Given the description of an element on the screen output the (x, y) to click on. 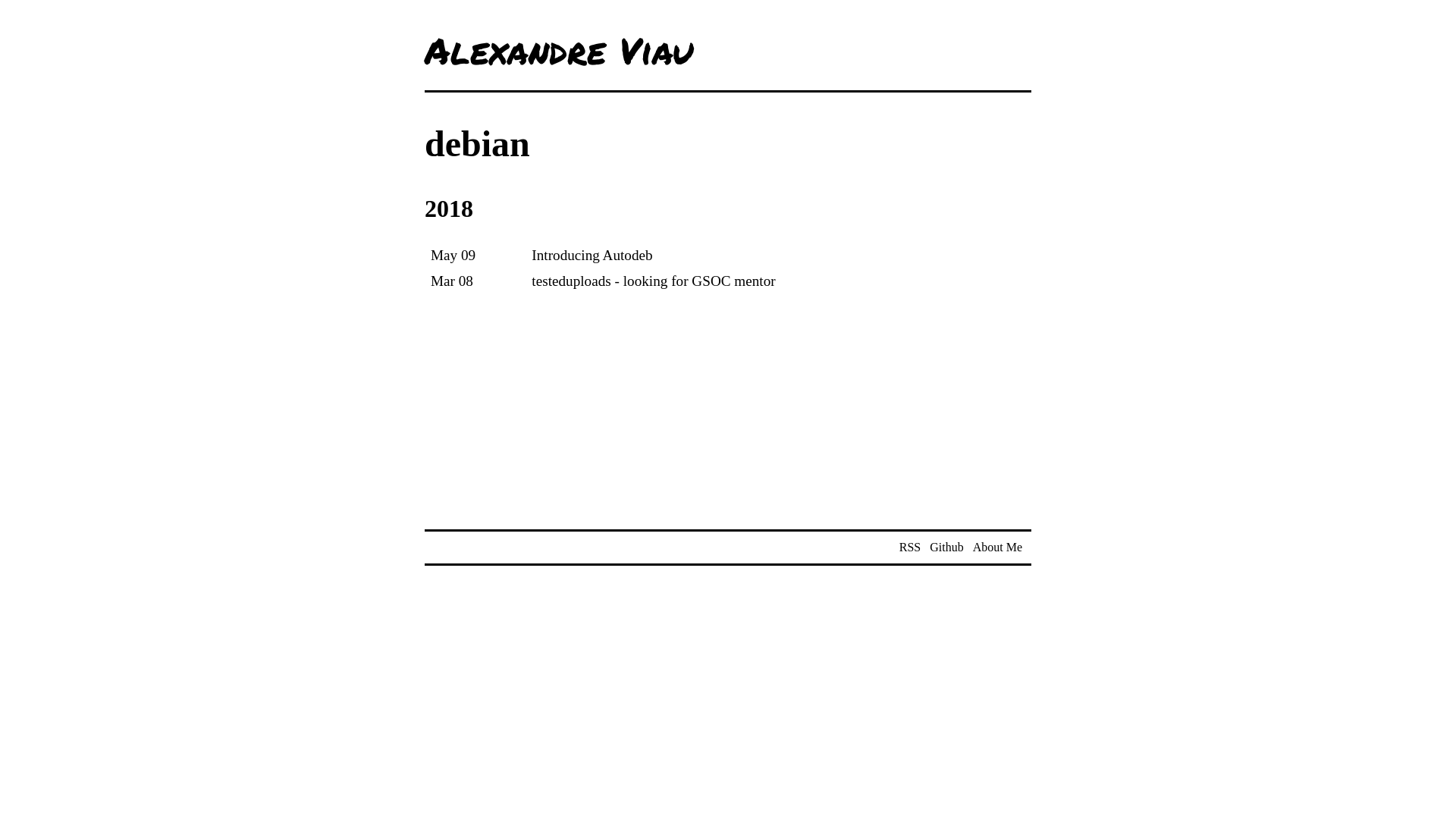
testeduploads - looking for GSOC mentor Element type: text (653, 280)
About Me Element type: text (997, 546)
Introducing Autodeb Element type: text (591, 255)
Github Element type: text (946, 546)
Alexandre Viau Element type: text (558, 49)
RSS Element type: text (909, 546)
